Given the description of an element on the screen output the (x, y) to click on. 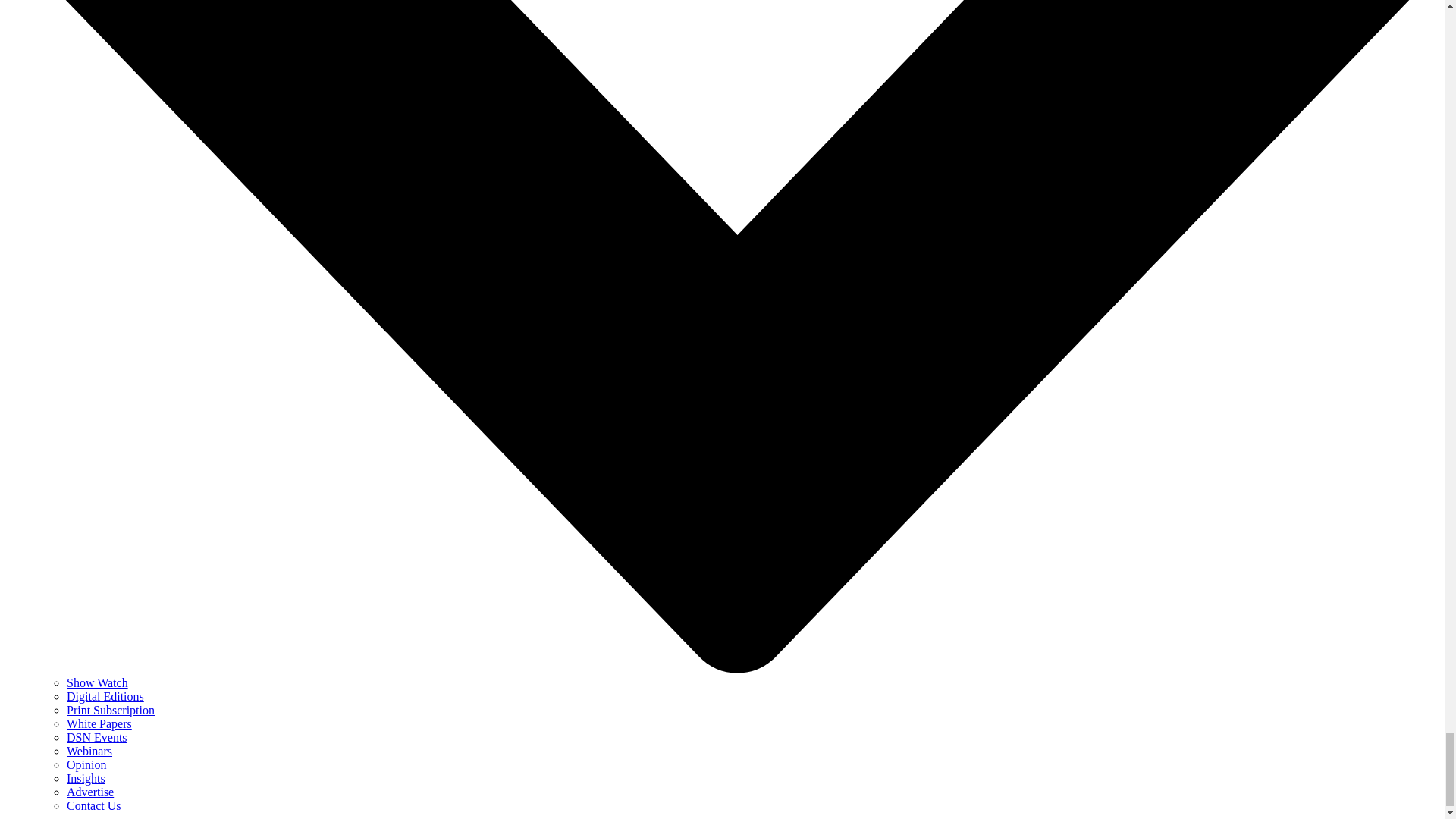
Advertise (89, 791)
Webinars (89, 750)
Insights (85, 778)
Show Watch (97, 682)
Print Subscription (110, 709)
Contact Us (93, 805)
Opinion (86, 764)
DSN Events (97, 737)
White Papers (99, 723)
Digital Editions (105, 696)
